Given the description of an element on the screen output the (x, y) to click on. 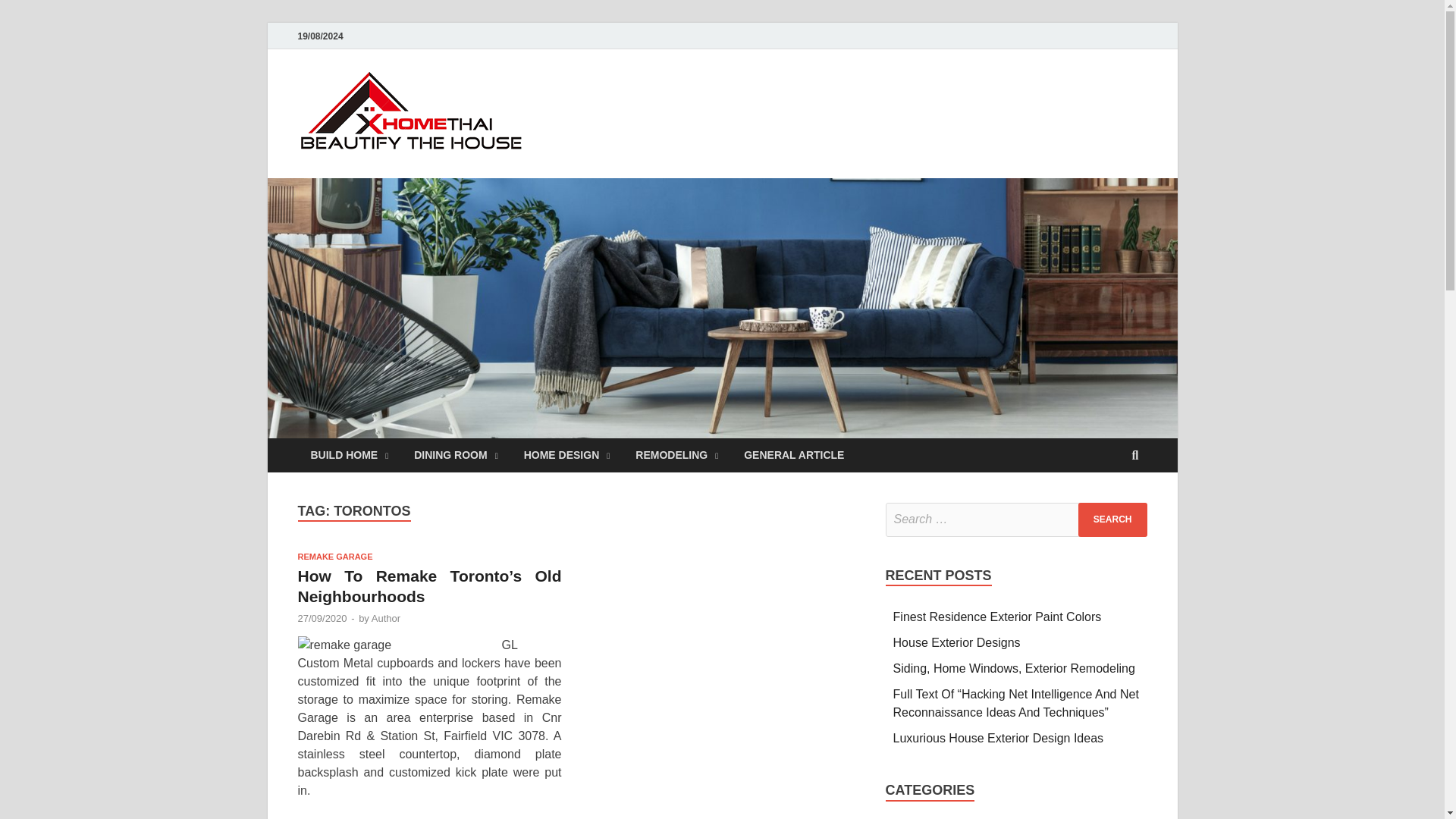
homethai.net (621, 100)
BUILD HOME (349, 455)
Search (1112, 519)
HOME DESIGN (567, 455)
REMODELING (676, 455)
Search (1112, 519)
GENERAL ARTICLE (793, 455)
DINING ROOM (456, 455)
